Given the description of an element on the screen output the (x, y) to click on. 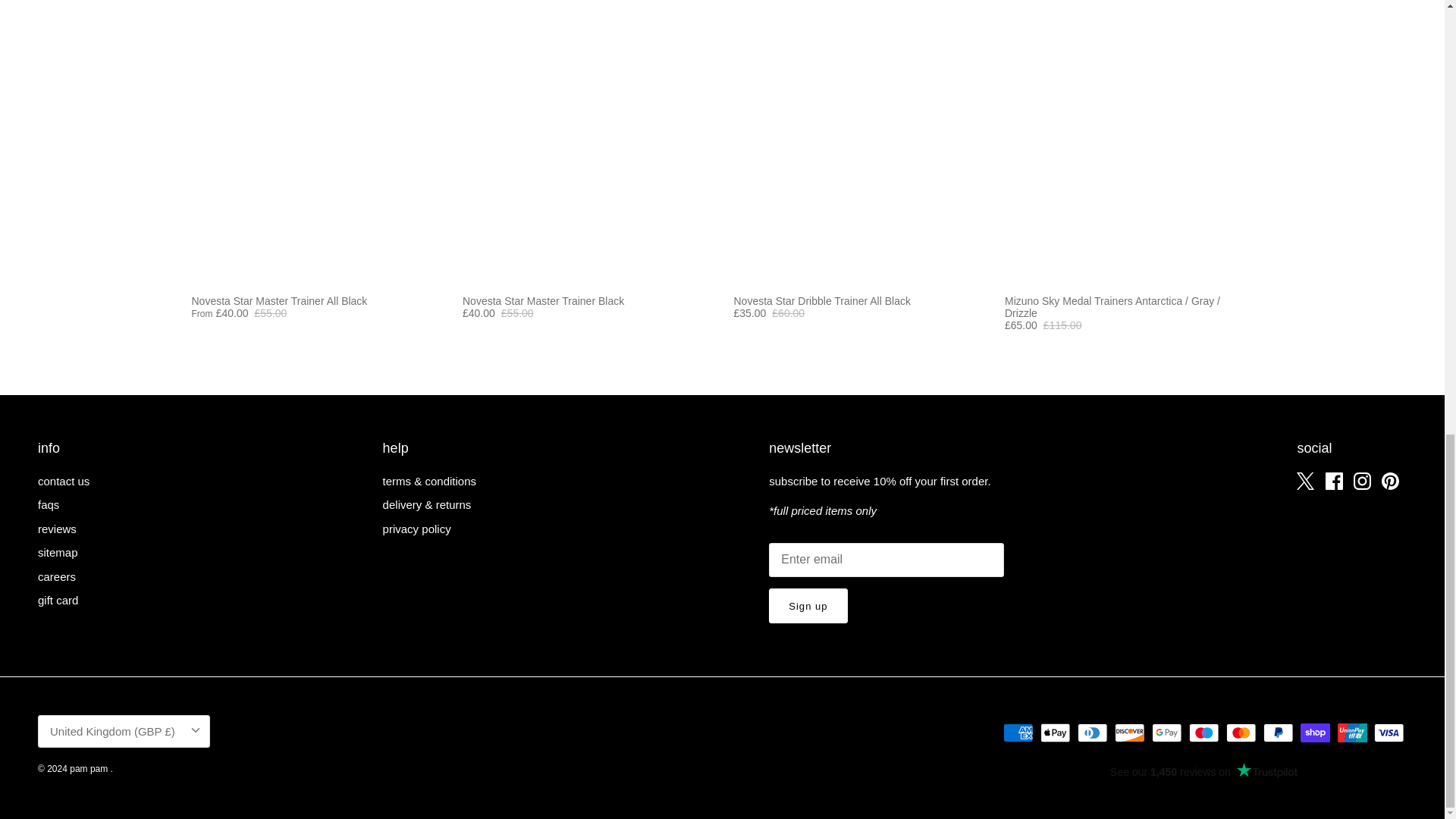
Mastercard (1240, 732)
Google Pay (1166, 732)
Customer reviews powered by Trustpilot (1203, 771)
Discover (1129, 732)
Apple Pay (1055, 732)
American Express (1018, 732)
Diners Club (1092, 732)
PayPal (1277, 732)
Pinterest (1390, 480)
Instagram (1362, 480)
